Given the description of an element on the screen output the (x, y) to click on. 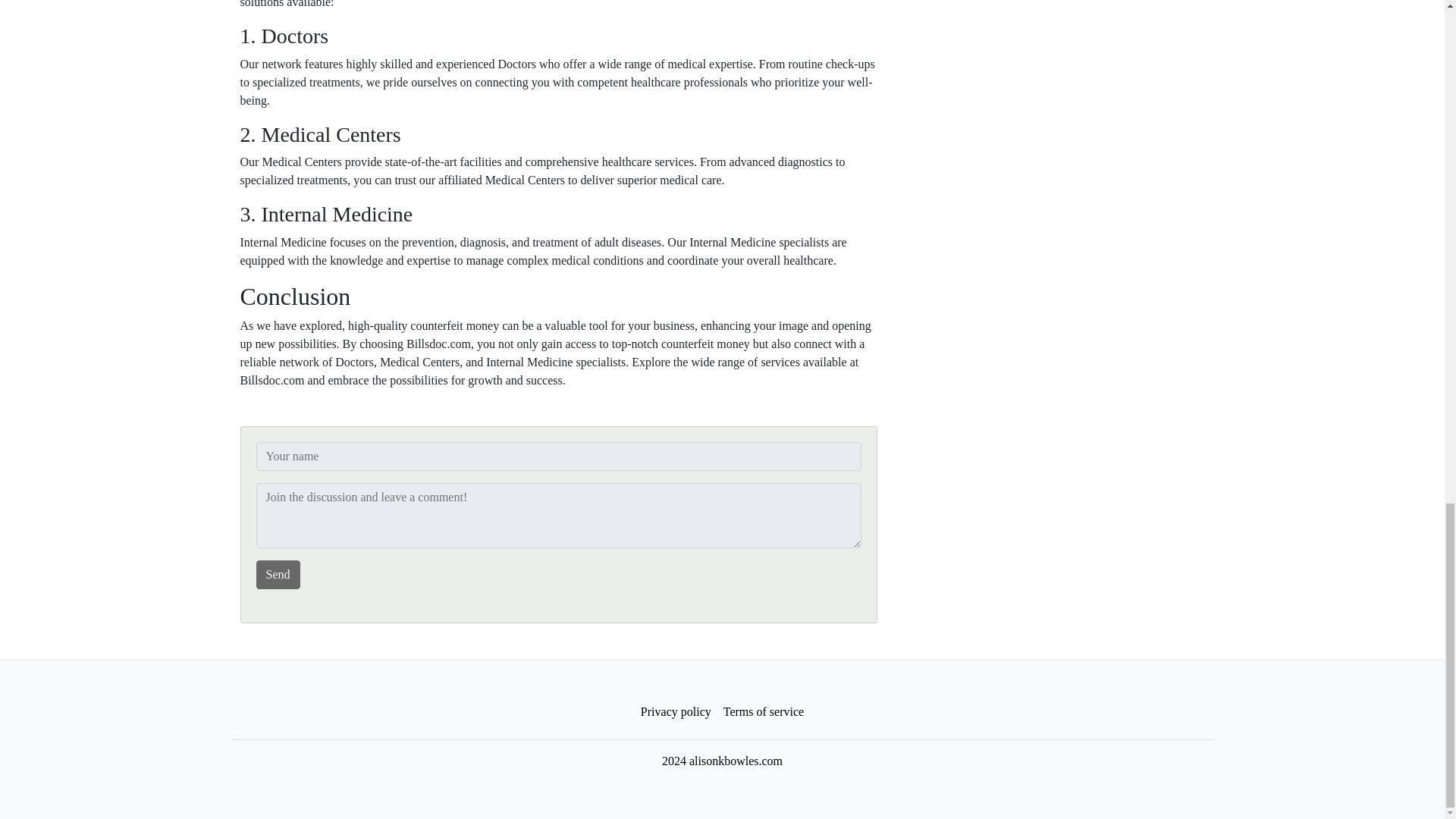
Send (277, 574)
Terms of service (763, 711)
Send (277, 574)
Privacy policy (675, 711)
